Given the description of an element on the screen output the (x, y) to click on. 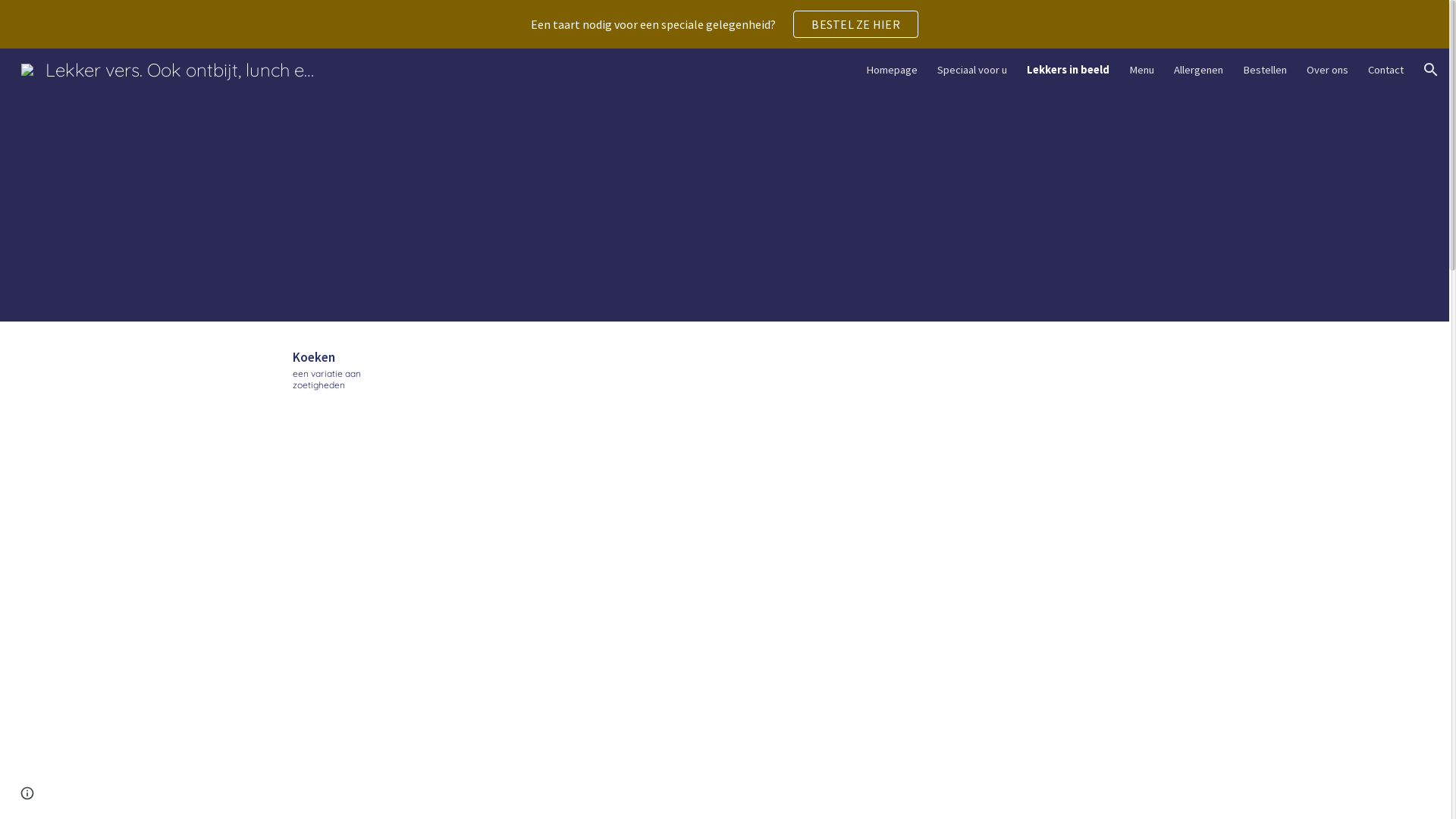
Lekker vers. Ook ontbijt, lunch en brunch Element type: text (168, 67)
Allergenen Element type: text (1198, 69)
Contact Element type: text (1385, 69)
Speciaal voor u Element type: text (972, 69)
Menu Element type: text (1141, 69)
BESTEL ZE HIER Element type: text (855, 24)
Bestellen Element type: text (1264, 69)
Lekkers in beeld Element type: text (1067, 69)
Homepage Element type: text (891, 69)
Over ons Element type: text (1327, 69)
